Given the description of an element on the screen output the (x, y) to click on. 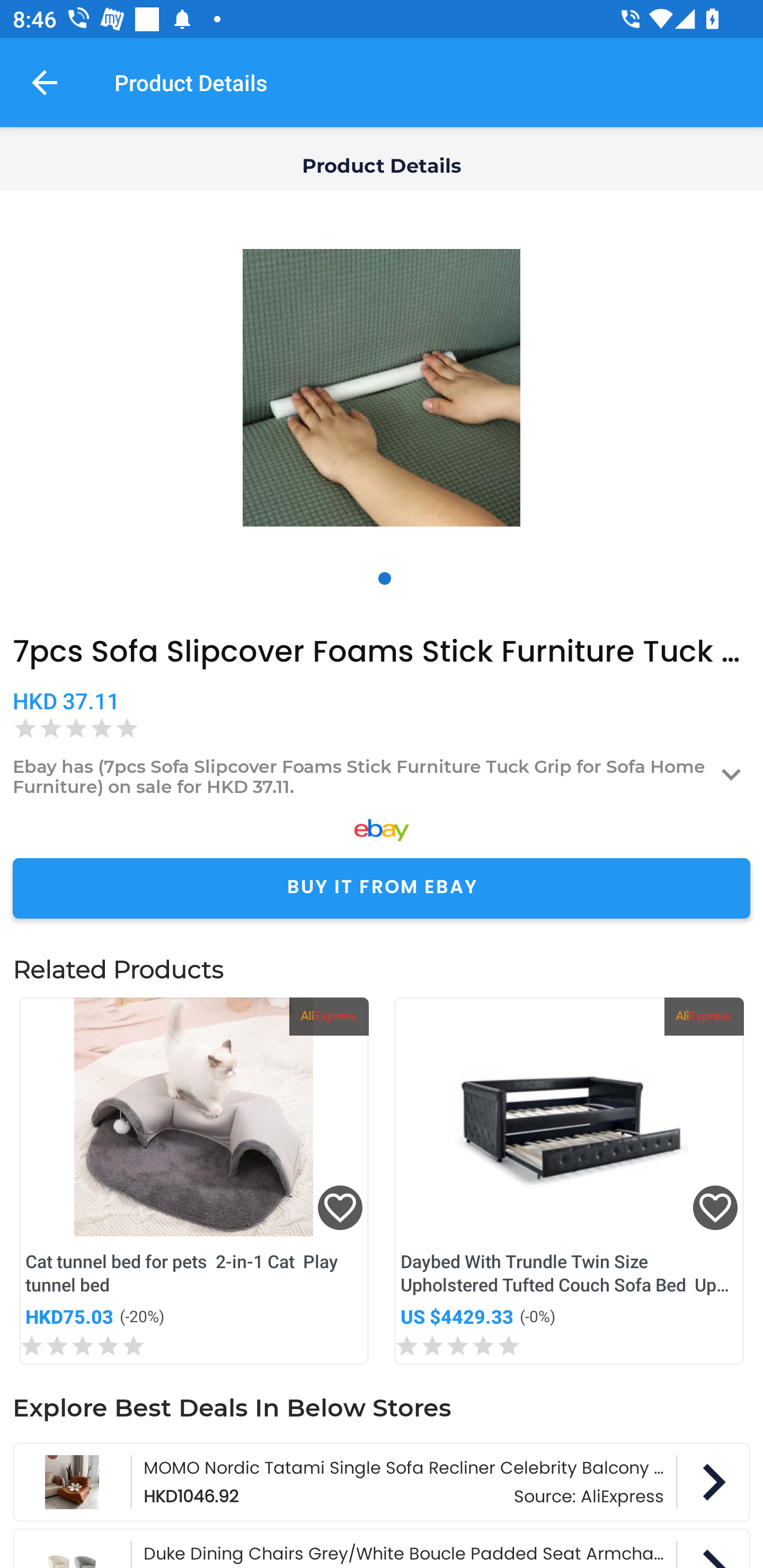
Navigate up (44, 82)
BUY IT FROM EBAY (381, 888)
